Given the description of an element on the screen output the (x, y) to click on. 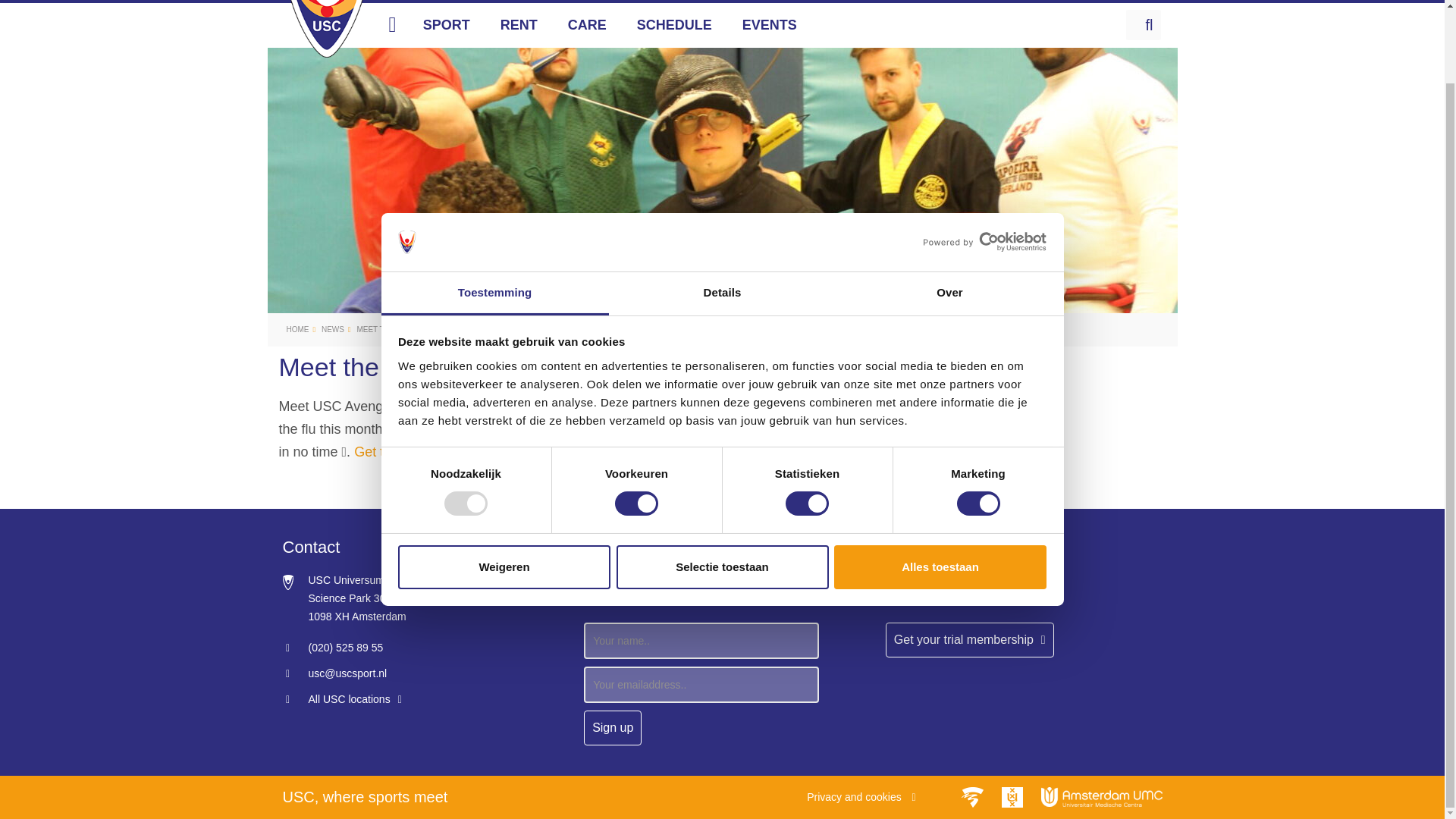
Details (721, 212)
Weigeren (503, 485)
Over (948, 212)
Selectie toestaan (721, 485)
Toestemming (494, 212)
Sportlocaties Amsterdam (341, 698)
Sign up (612, 727)
